Given the description of an element on the screen output the (x, y) to click on. 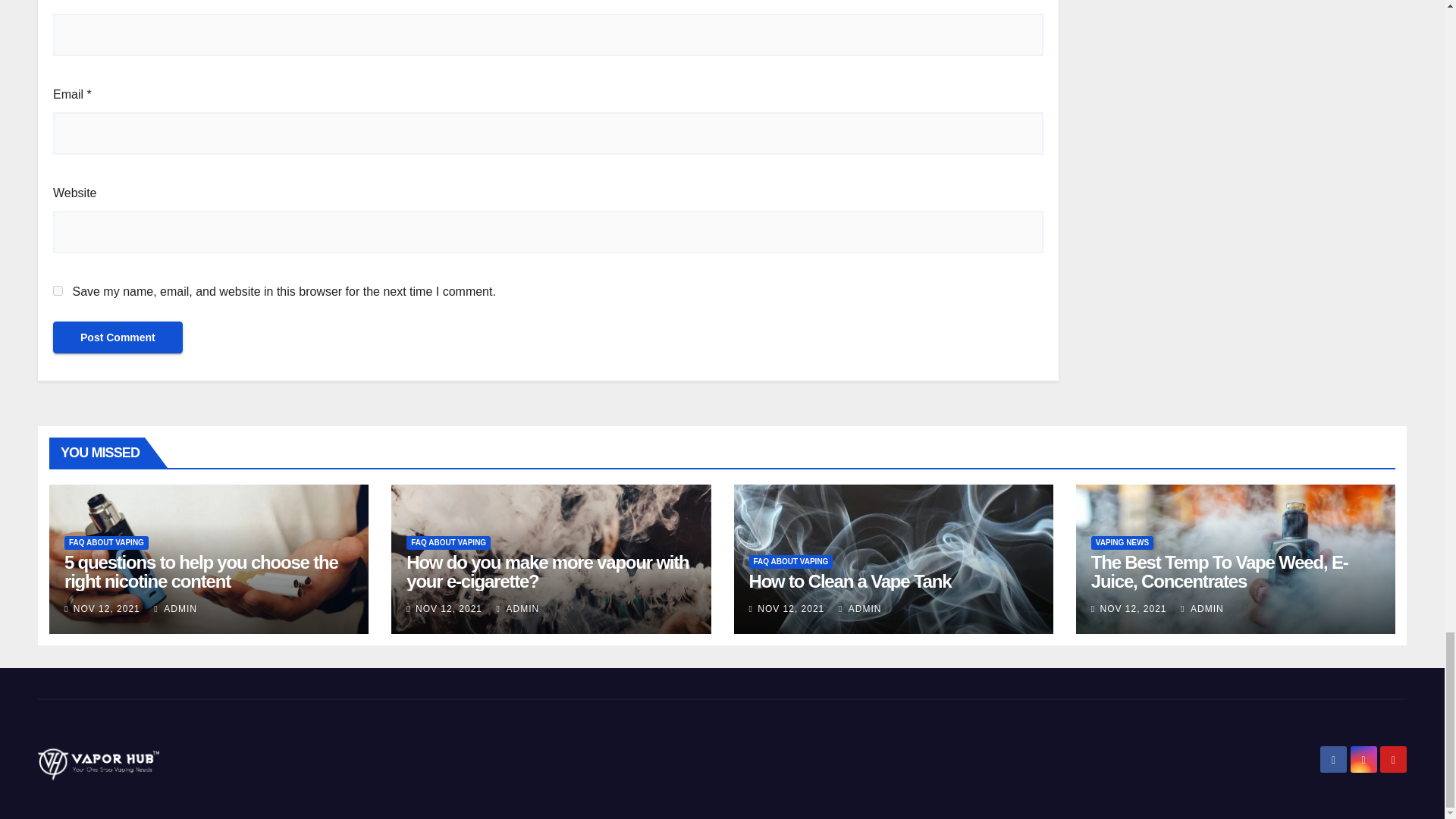
Post Comment (117, 336)
Post Comment (117, 336)
yes (57, 290)
Permalink to: How to Clean a Vape Tank (850, 580)
